Given the description of an element on the screen output the (x, y) to click on. 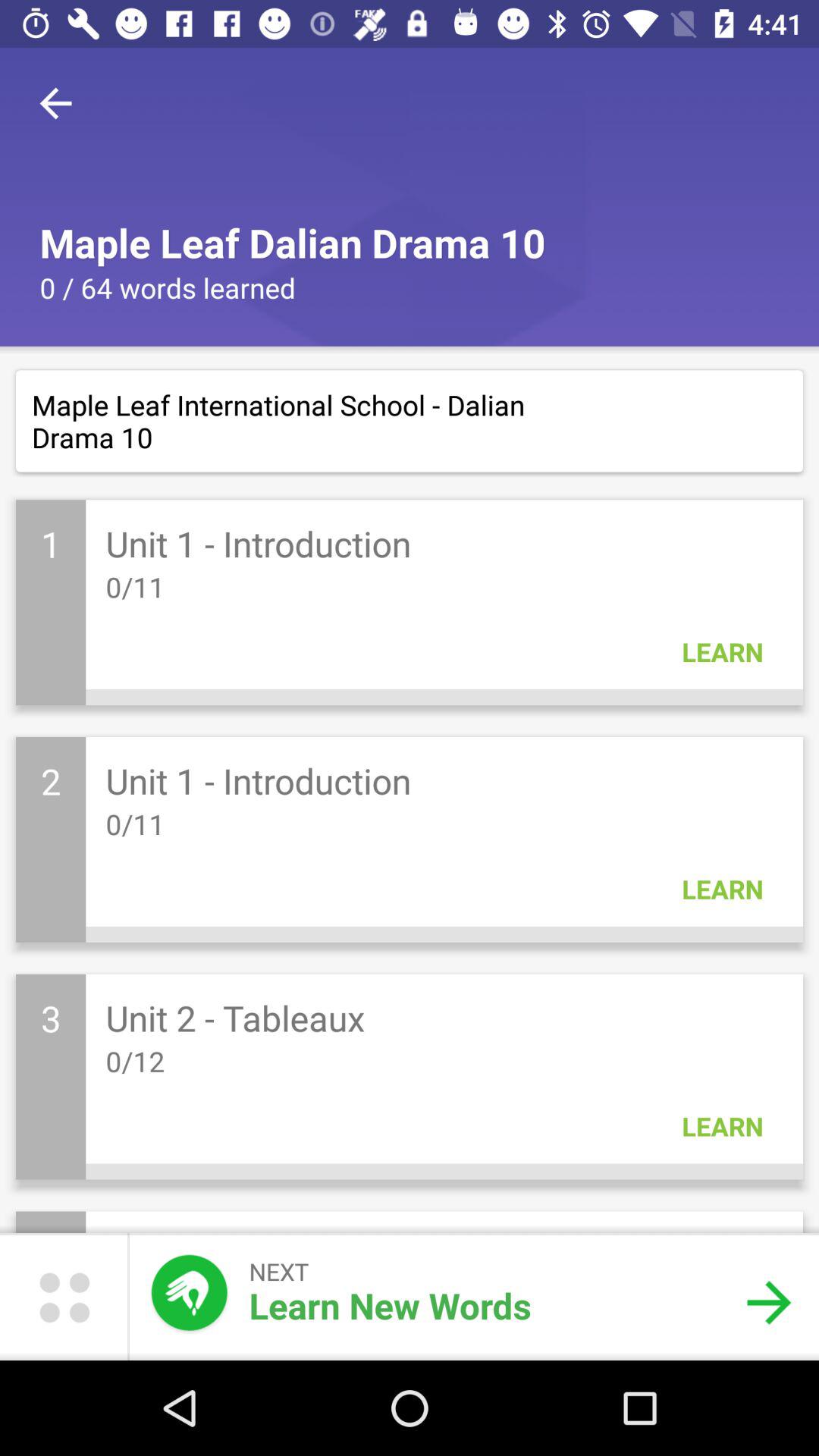
select learn in the second block (721, 888)
select the learn in the first block (721, 651)
select the next button (769, 1302)
select the second learn (721, 888)
click learn in the first block (721, 651)
